Given the description of an element on the screen output the (x, y) to click on. 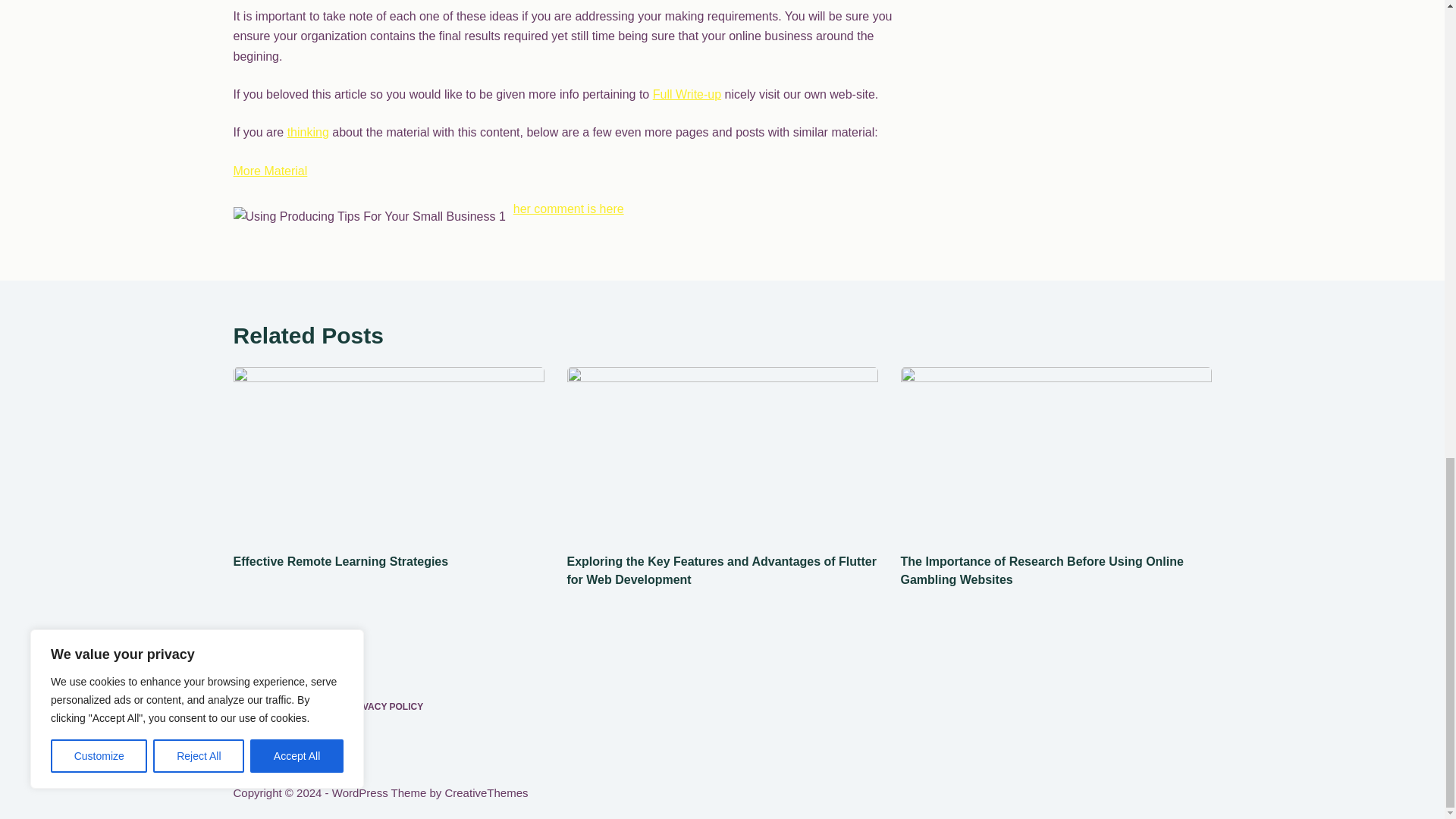
More Material (269, 170)
her comment is here (568, 208)
Full Write-up (686, 93)
thinking (307, 132)
